Given the description of an element on the screen output the (x, y) to click on. 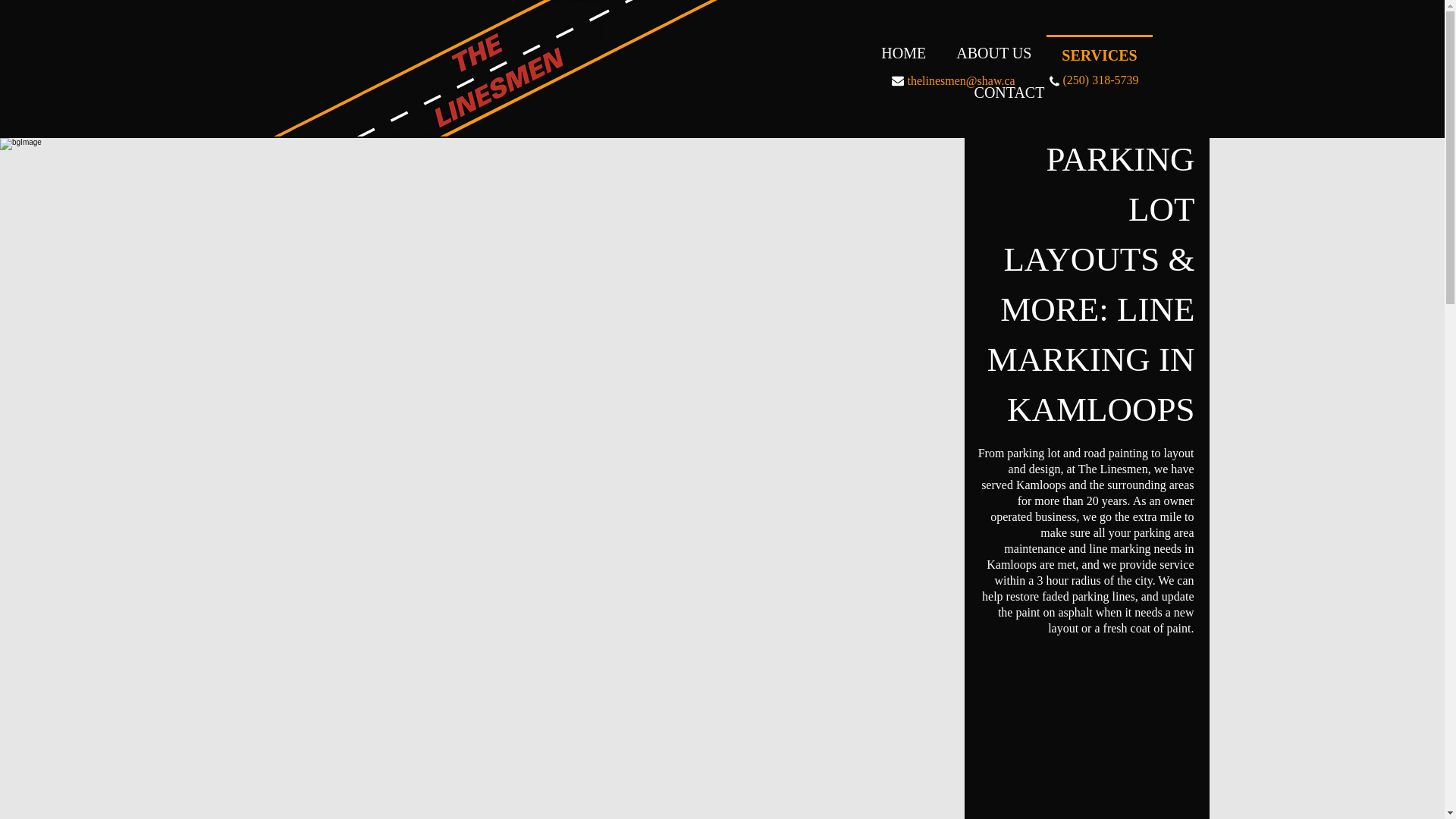
ABOUT US (993, 53)
CONTACT (1009, 92)
SERVICES (1098, 54)
HOME (903, 53)
